Given the description of an element on the screen output the (x, y) to click on. 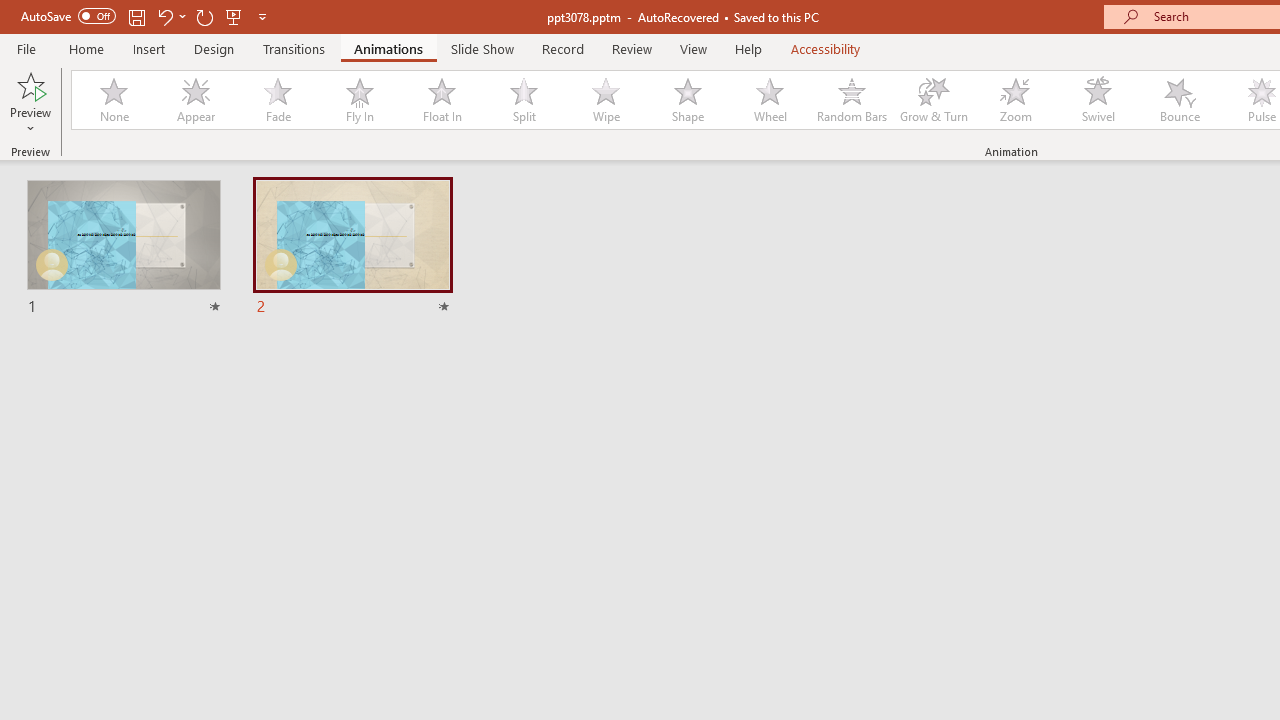
Wipe (605, 100)
Fade (277, 100)
Swivel (1098, 100)
Preview (30, 102)
Random Bars (852, 100)
